Given the description of an element on the screen output the (x, y) to click on. 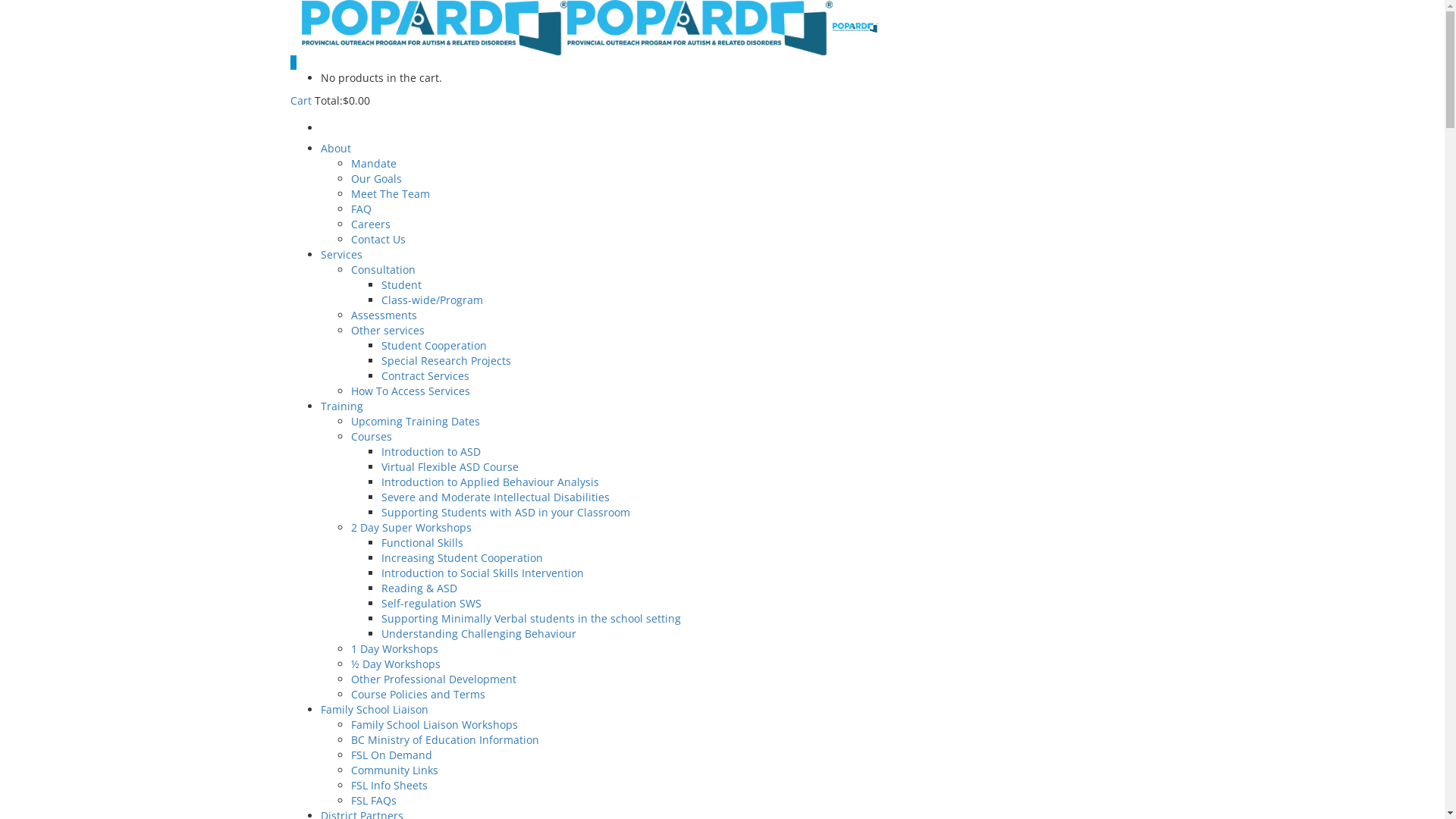
Training Element type: text (341, 405)
Self-regulation SWS Element type: text (430, 603)
Introduction to Social Skills Intervention Element type: text (481, 572)
Reading & ASD Element type: text (418, 587)
Supporting Students with ASD in your Classroom Element type: text (504, 512)
Courses Element type: text (370, 436)
Severe and Moderate Intellectual Disabilities Element type: text (494, 496)
Cart Element type: text (301, 100)
FSL Info Sheets Element type: text (388, 785)
BC Ministry of Education Information Element type: text (444, 739)
FSL On Demand Element type: text (390, 754)
Contact Us Element type: text (377, 239)
How To Access Services Element type: text (409, 390)
Understanding Challenging Behaviour Element type: text (477, 633)
Services Element type: text (340, 254)
Increasing Student Cooperation Element type: text (461, 557)
Contract Services Element type: text (424, 375)
Supporting Minimally Verbal students in the school setting Element type: text (530, 618)
Upcoming Training Dates Element type: text (414, 421)
Other Professional Development Element type: text (432, 678)
Mandate Element type: text (372, 163)
Consultation Element type: text (382, 269)
Community Links Element type: text (393, 769)
Family School Liaison Workshops Element type: text (433, 724)
Course Policies and Terms Element type: text (417, 694)
My Basket Element type: hover (737, 124)
Assessments Element type: text (383, 314)
Student Cooperation Element type: text (433, 345)
0 Element type: text (292, 62)
Family School Liaison Element type: text (373, 709)
FSL FAQs Element type: text (372, 800)
Student Element type: text (400, 284)
Careers Element type: text (369, 223)
Functional Skills Element type: text (421, 542)
Introduction to Applied Behaviour Analysis Element type: text (489, 481)
Other services Element type: text (386, 330)
1 Day Workshops Element type: text (393, 648)
Introduction to ASD Element type: text (430, 451)
Class-wide/Program Element type: text (431, 299)
Meet The Team Element type: text (389, 193)
Special Research Projects Element type: text (445, 360)
Our Goals Element type: text (375, 178)
2 Day Super Workshops Element type: text (410, 527)
FAQ Element type: text (360, 208)
Virtual Flexible ASD Course Element type: text (448, 466)
About Element type: text (335, 148)
